Given the description of an element on the screen output the (x, y) to click on. 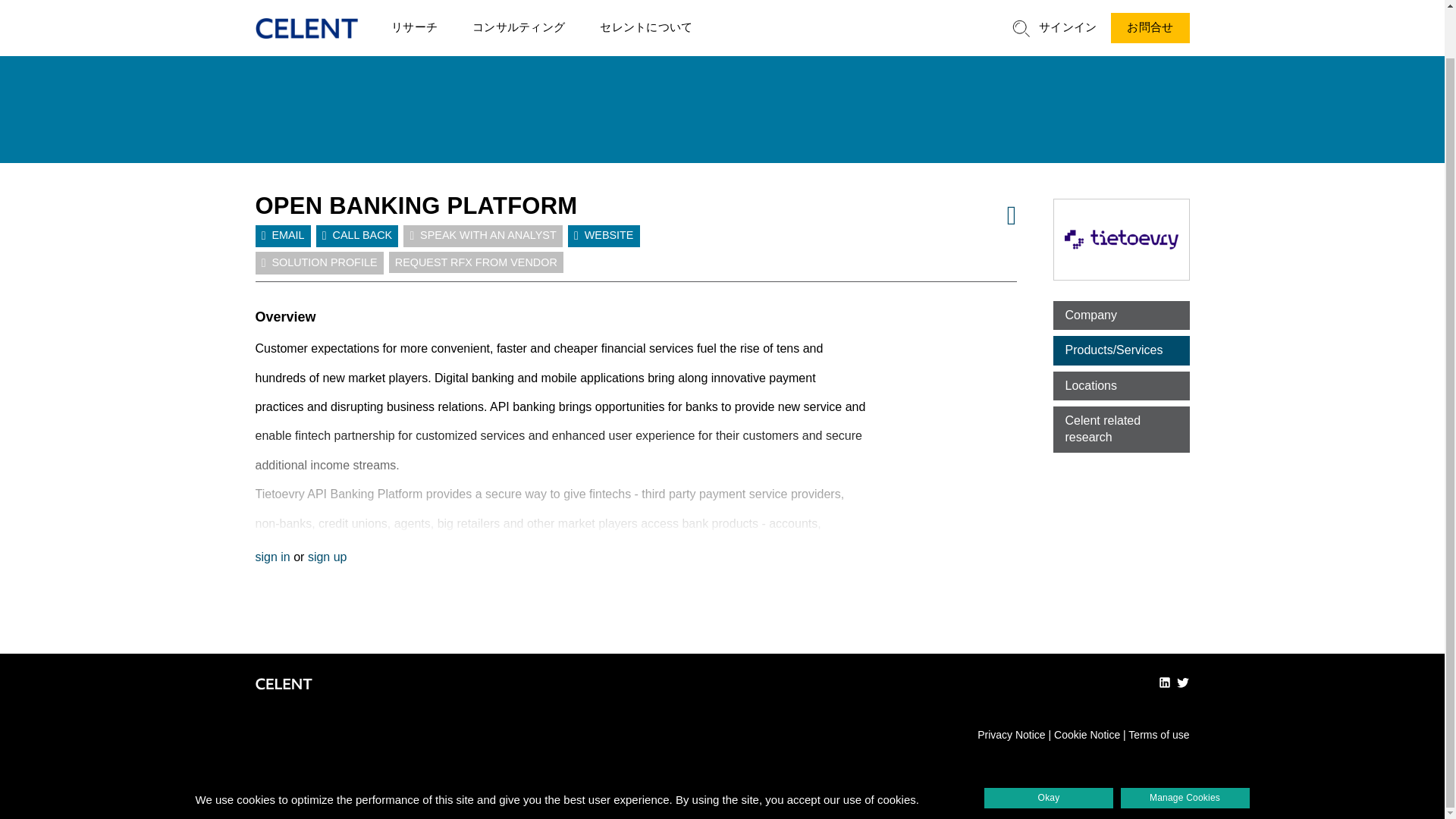
Manage Cookies (1185, 746)
Home (306, 9)
search (1020, 8)
Okay (1048, 746)
